Given the description of an element on the screen output the (x, y) to click on. 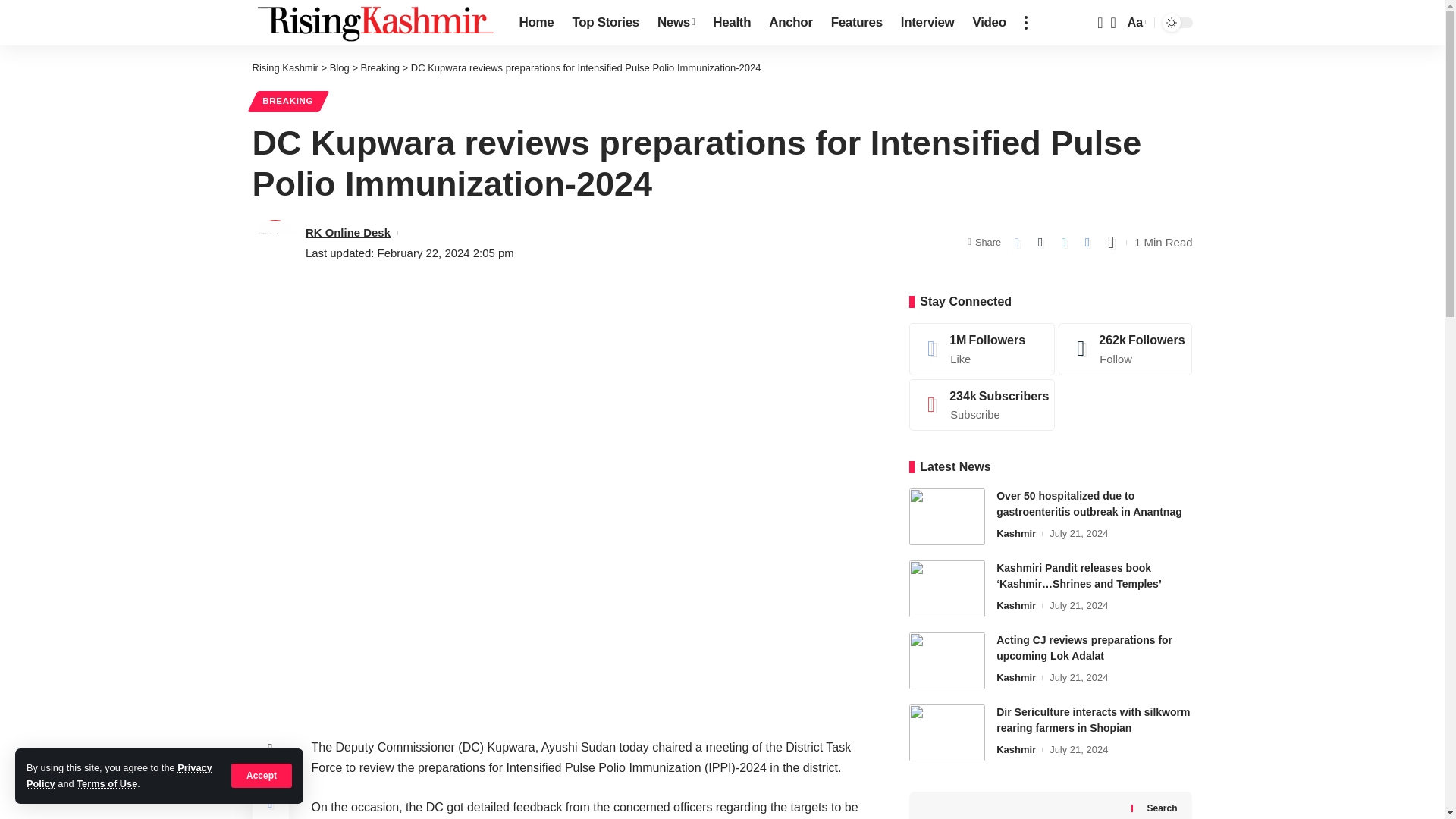
Health (731, 22)
Interview (927, 22)
Privacy Policy (119, 775)
News (675, 22)
Rising Kashmir (373, 22)
Features (856, 22)
Go to Rising Kashmir. (284, 67)
Go to the Breaking Category archives. (379, 67)
Home (535, 22)
Acting CJ reviews preparations for upcoming Lok Adalat (946, 660)
Top Stories (604, 22)
Accept (261, 775)
Go to Blog. (339, 67)
Video (988, 22)
